Given the description of an element on the screen output the (x, y) to click on. 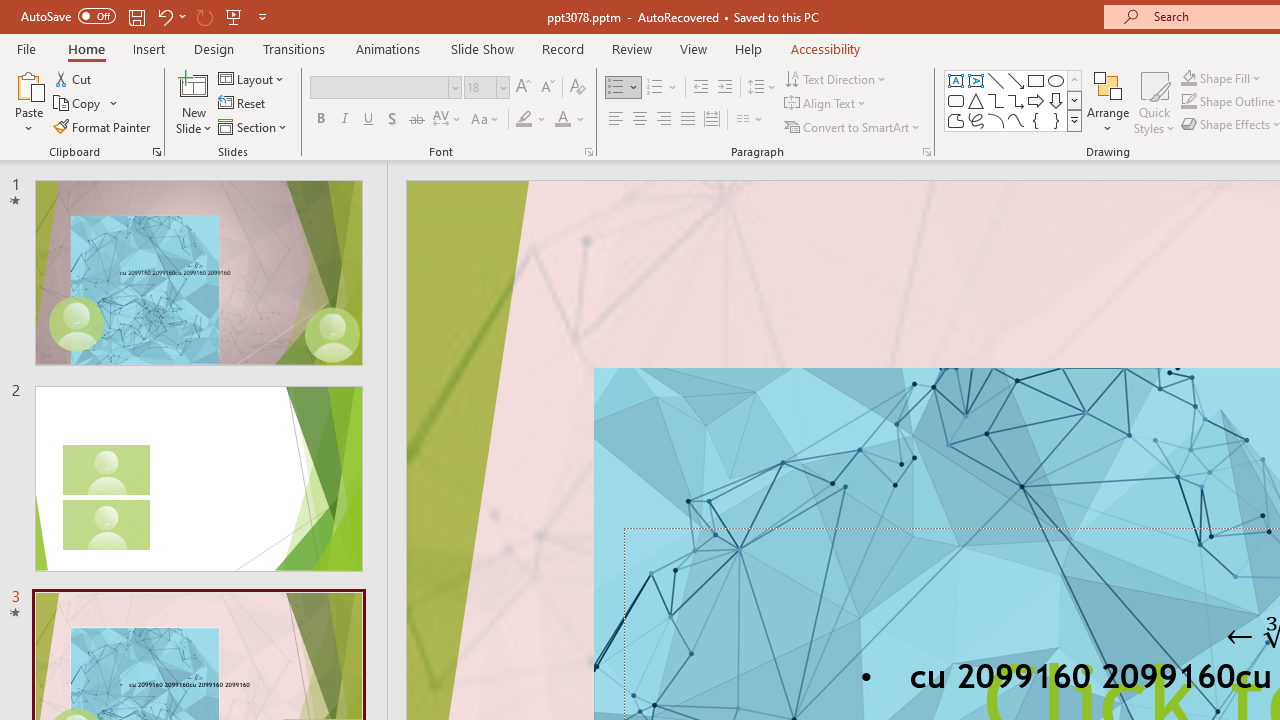
Shape Fill Dark Green, Accent 2 (1188, 78)
